Given the description of an element on the screen output the (x, y) to click on. 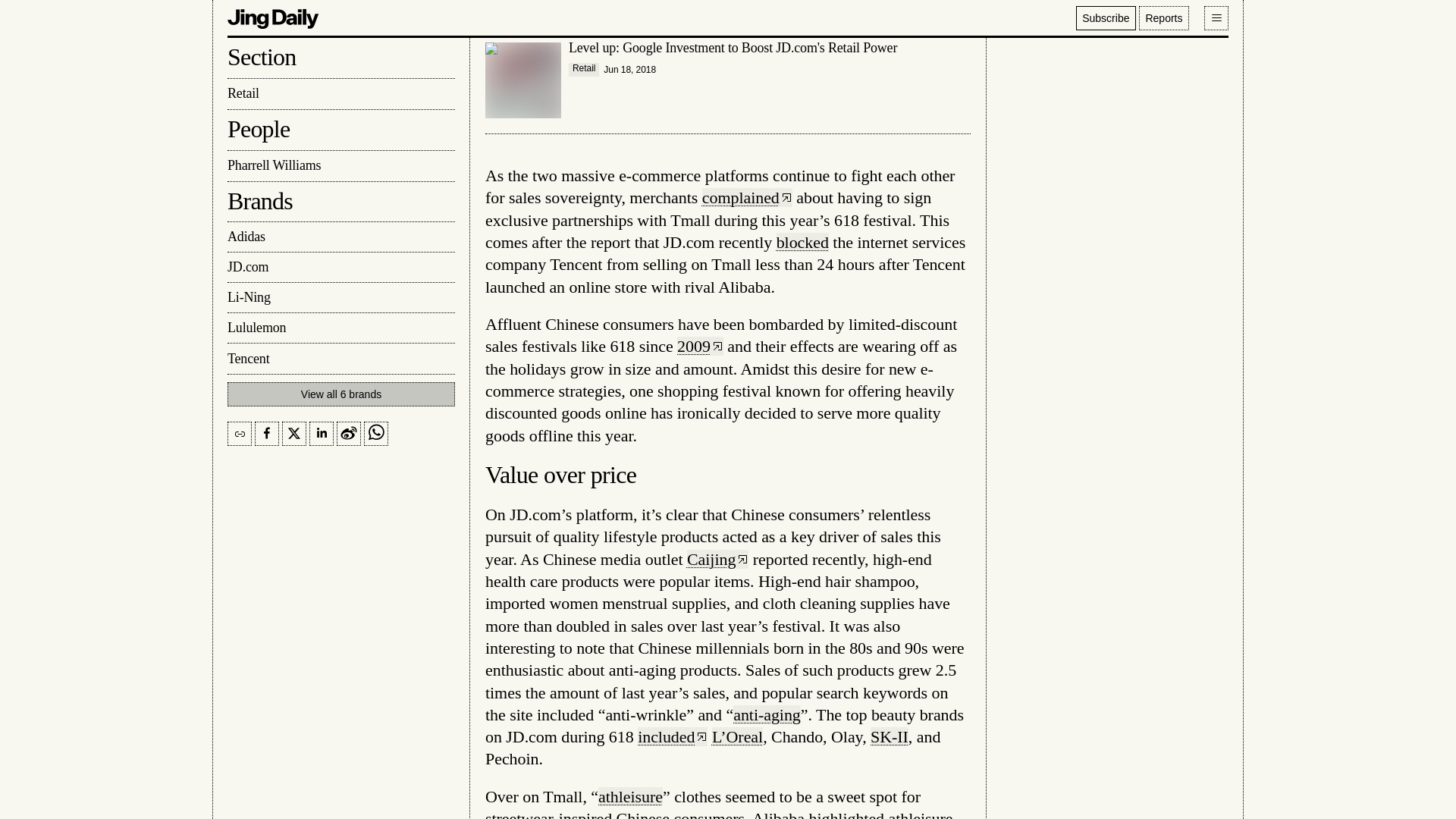
Caijing (717, 558)
included (672, 736)
blocked (802, 241)
SK-II (889, 736)
athleisure (630, 796)
anti-aging (766, 714)
complained (746, 197)
Level up: Google Investment to Boost JD.com's Retail Power (727, 79)
Value over price (560, 474)
2009 (700, 345)
